Given the description of an element on the screen output the (x, y) to click on. 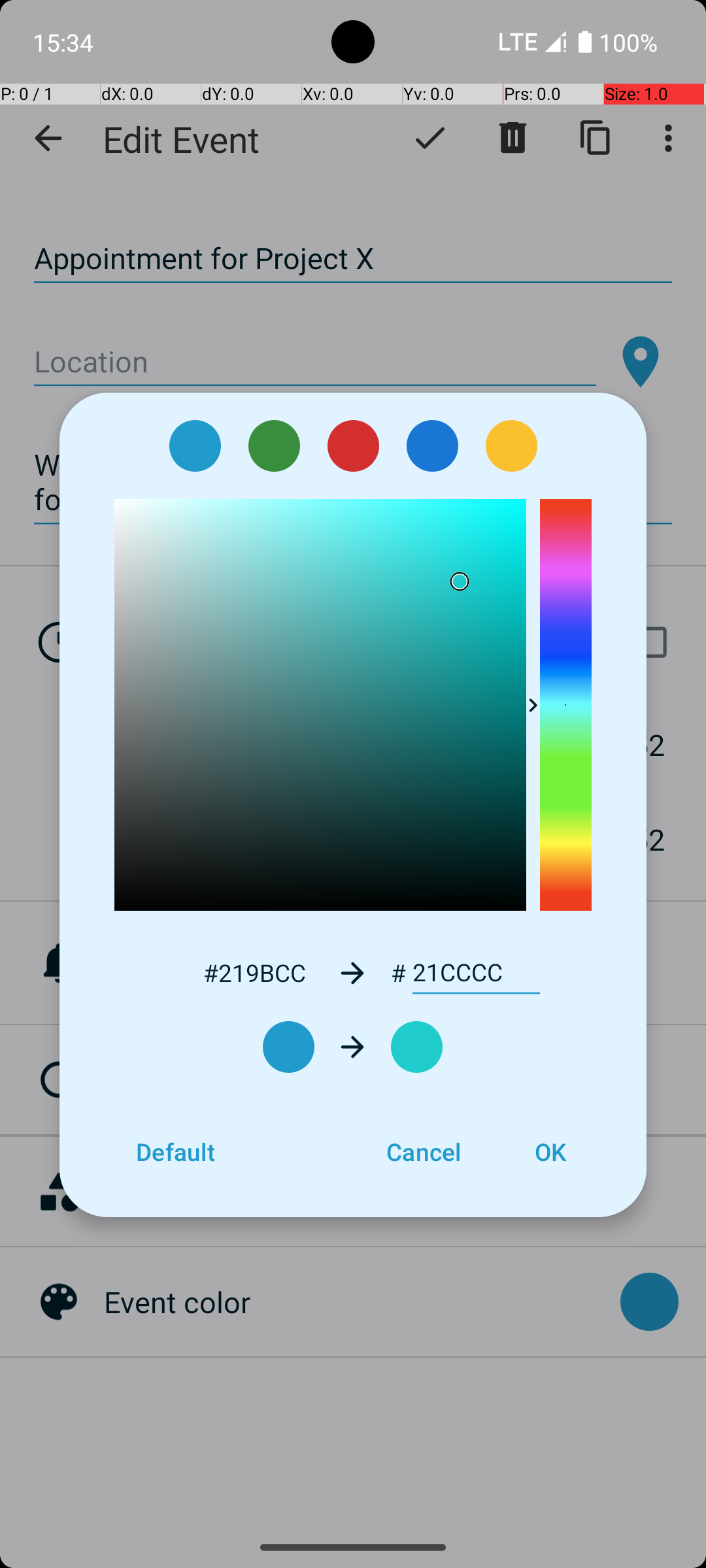
21CCCC Element type: android.widget.EditText (475, 972)
